Given the description of an element on the screen output the (x, y) to click on. 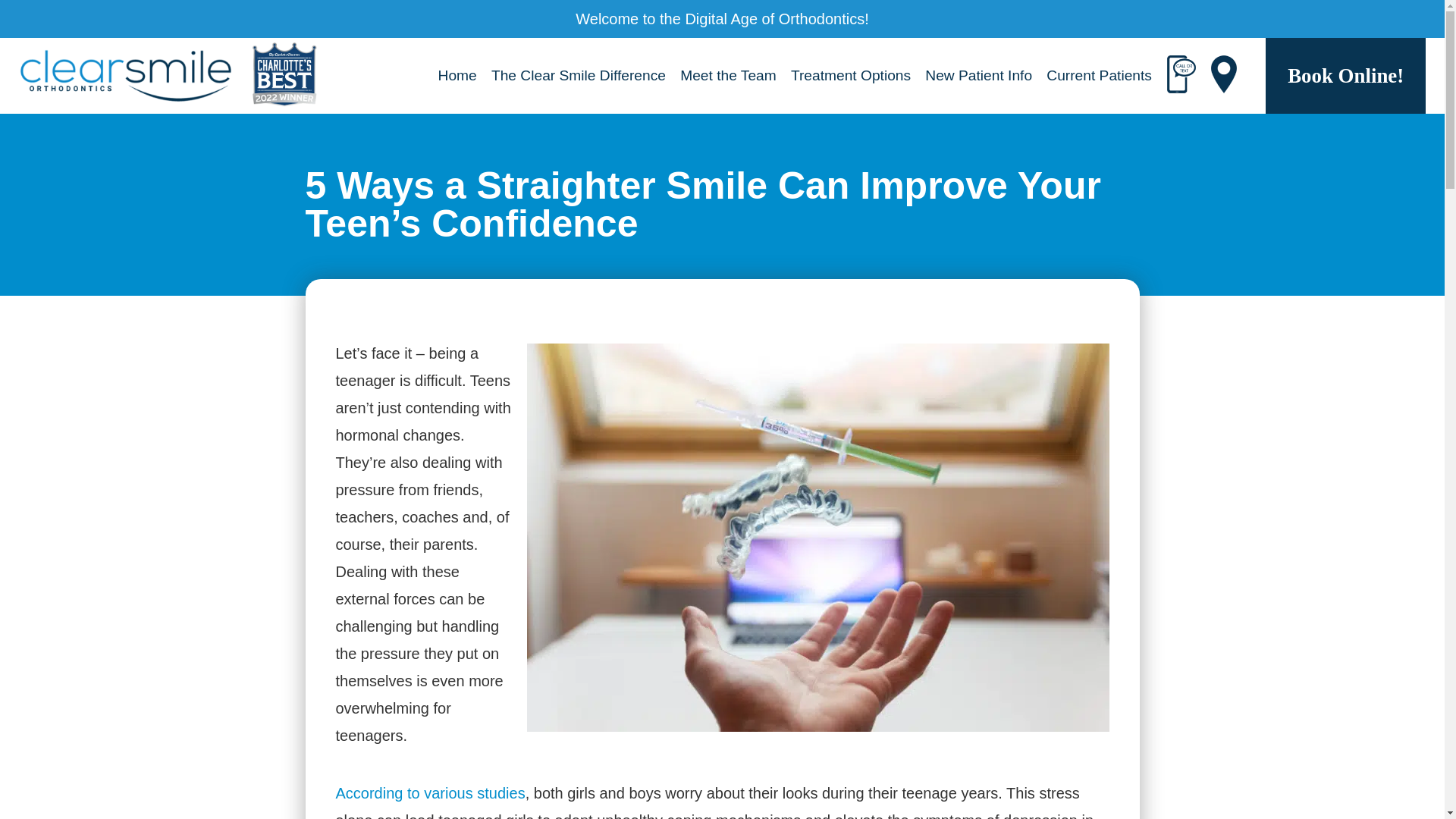
New Patient Info (978, 75)
Home (457, 75)
Meet the Team (727, 75)
According to various studies (429, 792)
The Clear Smile Difference (578, 75)
Book Online! (1345, 75)
Welcome to the Digital Age of Orthodontics! (722, 18)
Current Patients (1098, 75)
Treatment Options (850, 75)
